Given the description of an element on the screen output the (x, y) to click on. 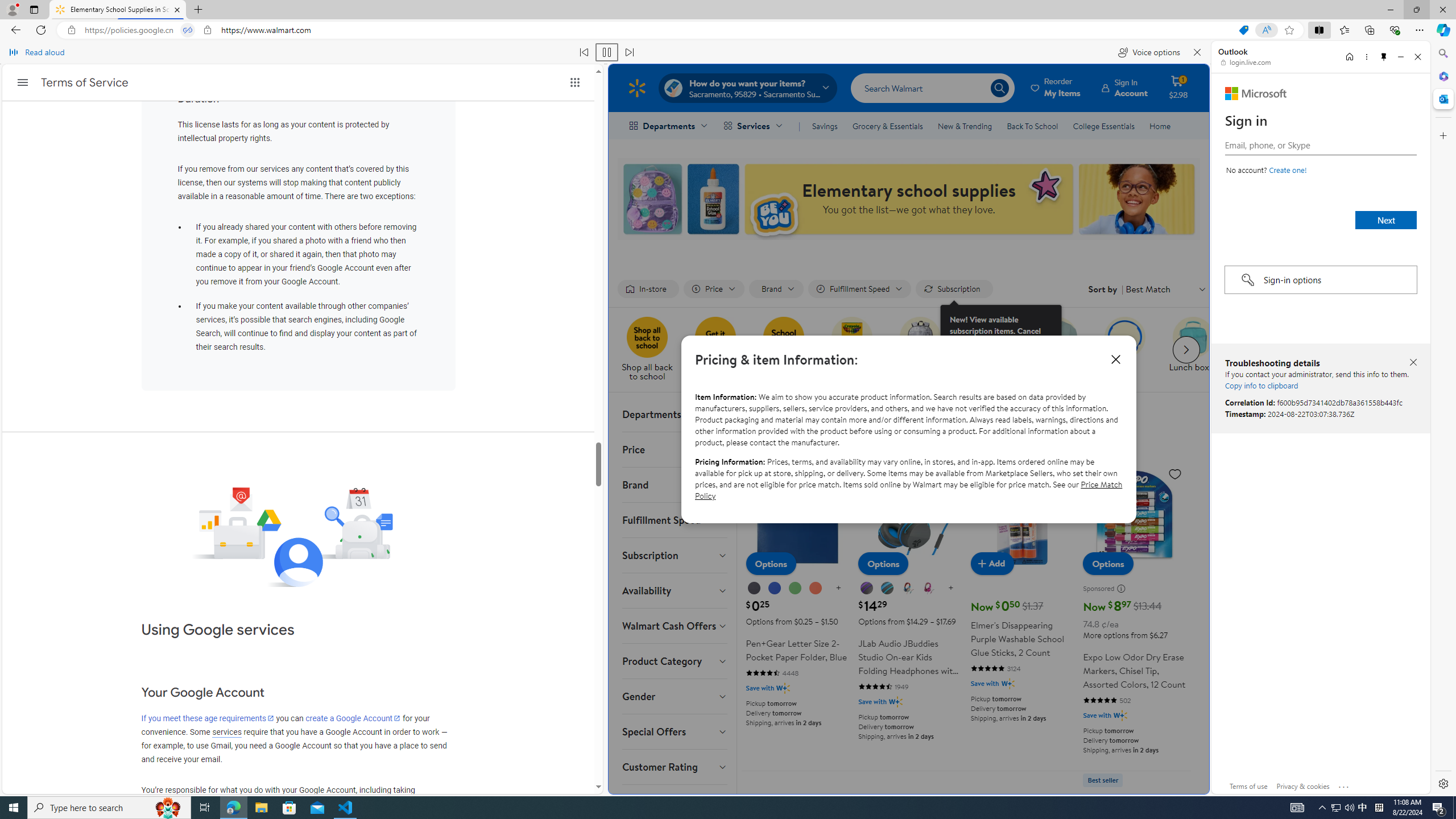
Pause read aloud (Ctrl+Shift+U) (606, 52)
This site has coupons! Shopping in Microsoft Edge, 7 (1243, 29)
Read previous paragraph (583, 52)
Close troubleshooting details (1412, 362)
Voice options (1149, 52)
Close troubleshooting details (1412, 362)
Close dialog (1115, 359)
